Given the description of an element on the screen output the (x, y) to click on. 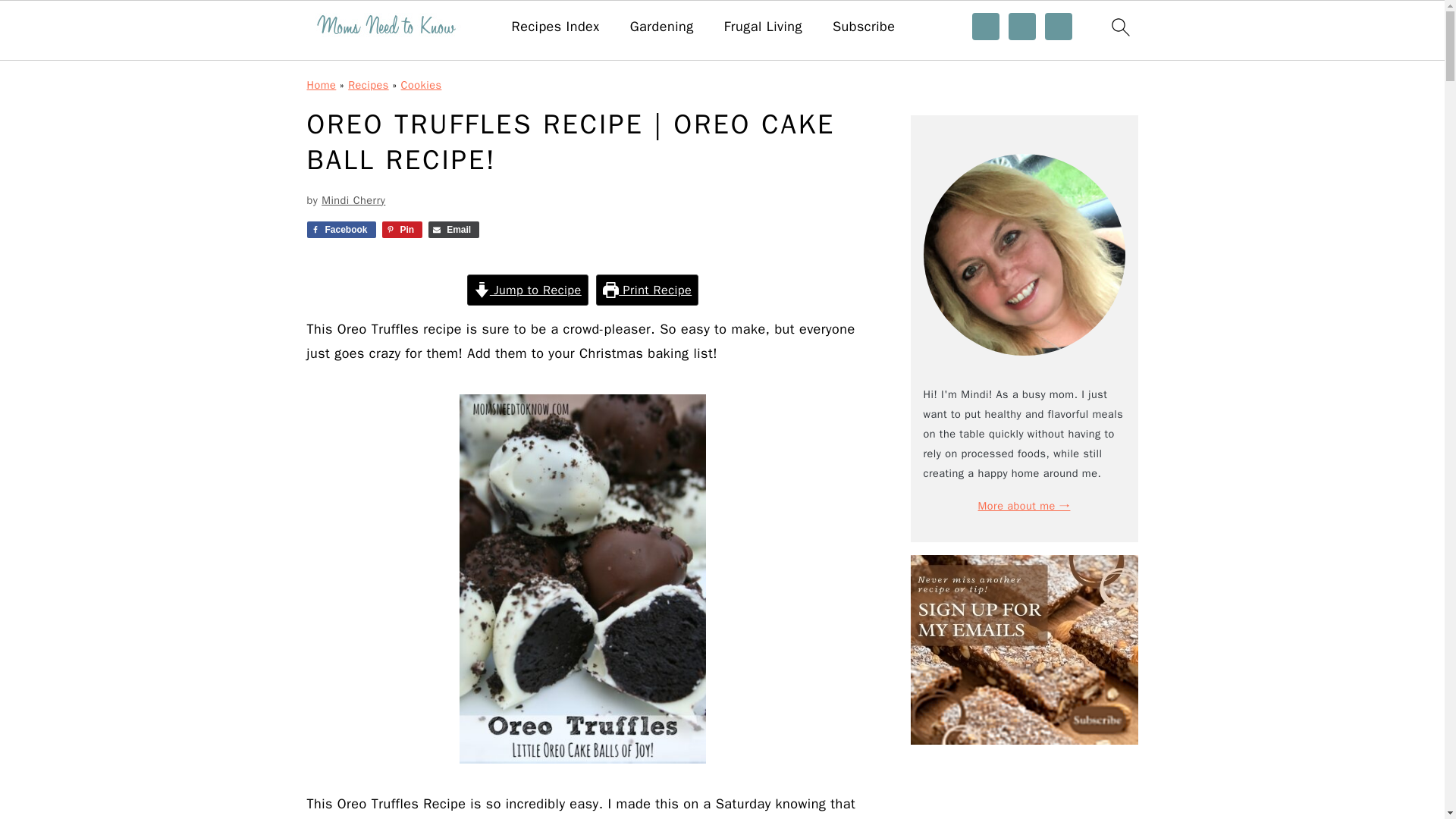
Home (320, 84)
Cookies (421, 84)
Share via Email (453, 229)
Email (453, 229)
Pin (402, 229)
Print Recipe (646, 289)
Mindi Cherry (353, 200)
Gardening (662, 27)
search icon (1119, 26)
